Given the description of an element on the screen output the (x, y) to click on. 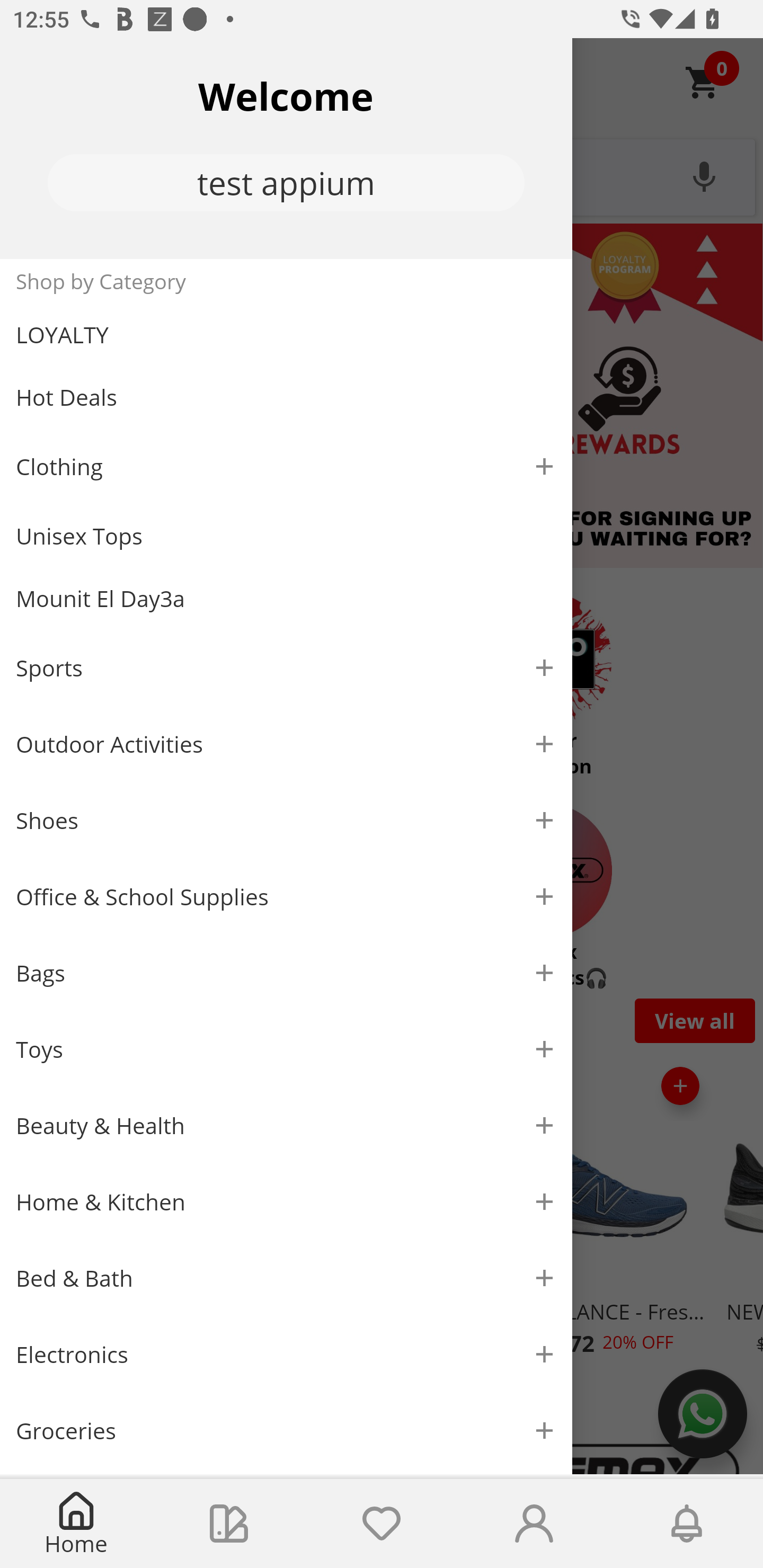
Welcome test appium (286, 147)
LOYALTY (286, 334)
Hot Deals (286, 396)
Clothing (286, 466)
Unisex Tops (286, 535)
Mounit El Day3a (286, 598)
Sports (286, 667)
Outdoor Activities (286, 743)
Shoes (286, 820)
Office & School Supplies (286, 896)
Bags (286, 972)
Toys (286, 1049)
Beauty & Health (286, 1125)
Home & Kitchen (286, 1201)
Bed & Bath (286, 1278)
Electronics (286, 1354)
Groceries (286, 1430)
Collections (228, 1523)
Wishlist (381, 1523)
My Account (533, 1523)
Notifications (686, 1523)
